Given the description of an element on the screen output the (x, y) to click on. 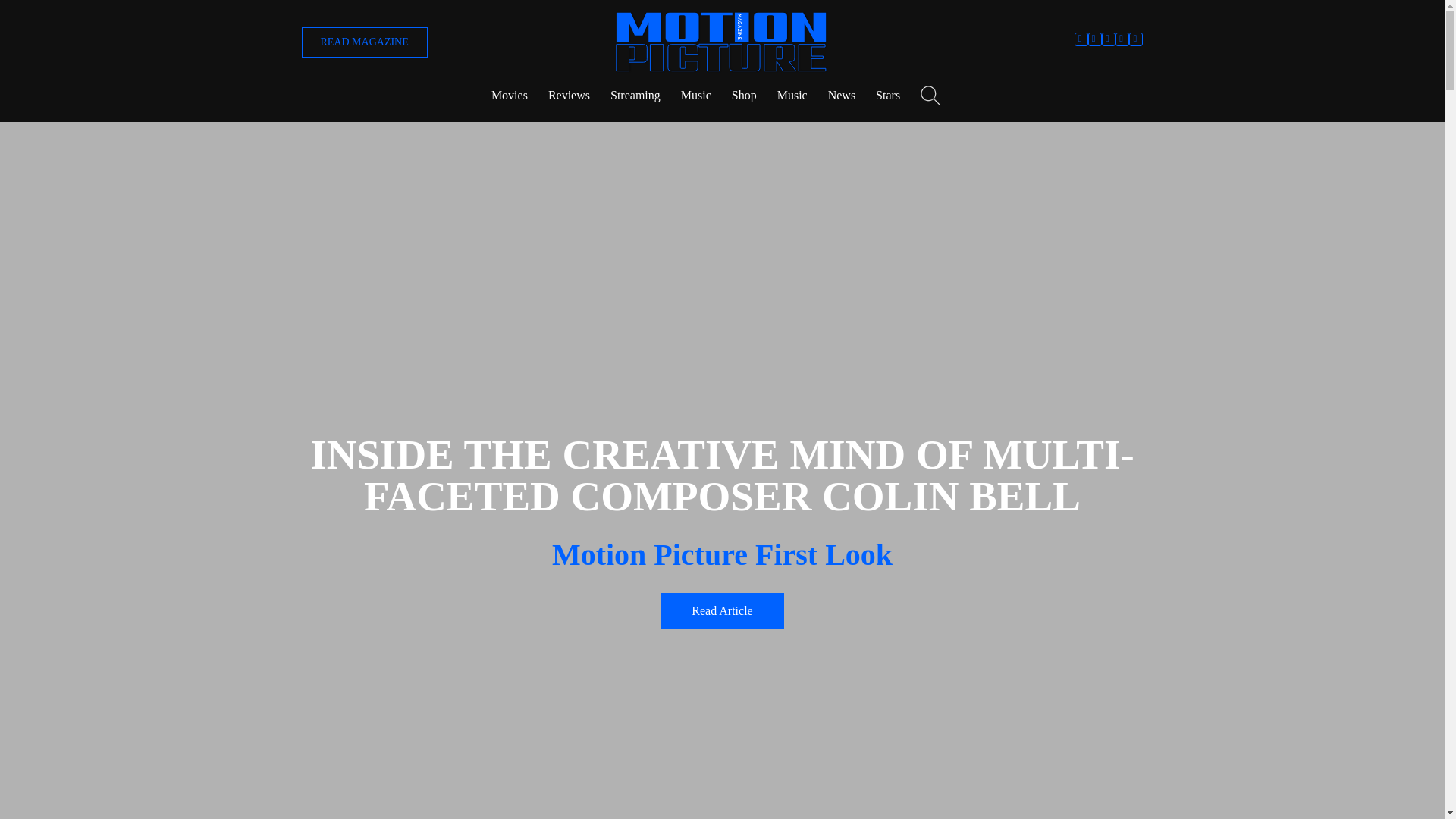
Movies (509, 95)
Streaming (635, 95)
Shop (744, 95)
READ MAGAZINE (364, 42)
Music (792, 95)
Reviews (568, 95)
Stars (887, 95)
Music (696, 95)
News (842, 95)
